Given the description of an element on the screen output the (x, y) to click on. 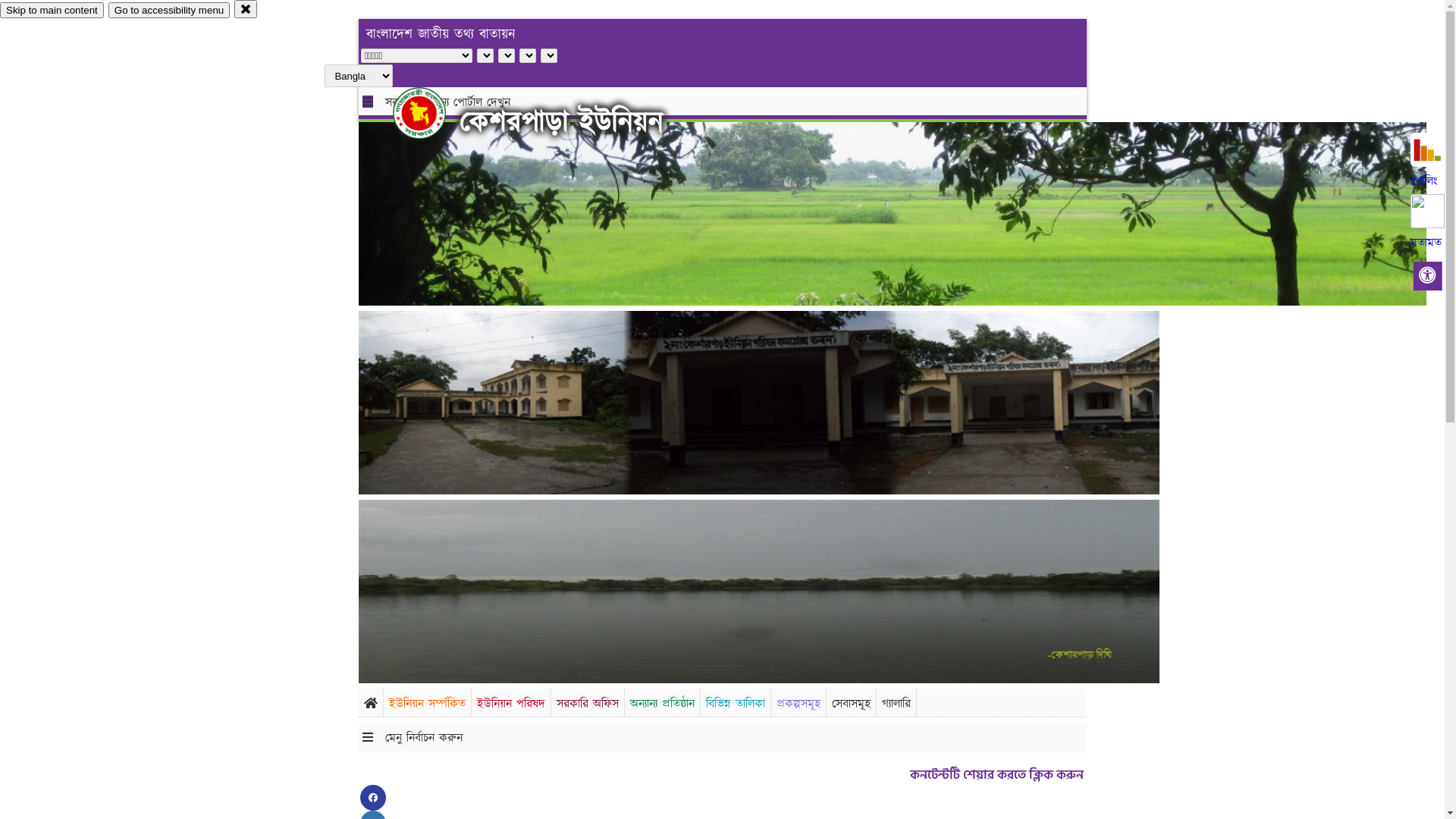

                
             Element type: hover (431, 112)
close Element type: hover (245, 9)
Skip to main content Element type: text (51, 10)
Go to accessibility menu Element type: text (168, 10)
